Given the description of an element on the screen output the (x, y) to click on. 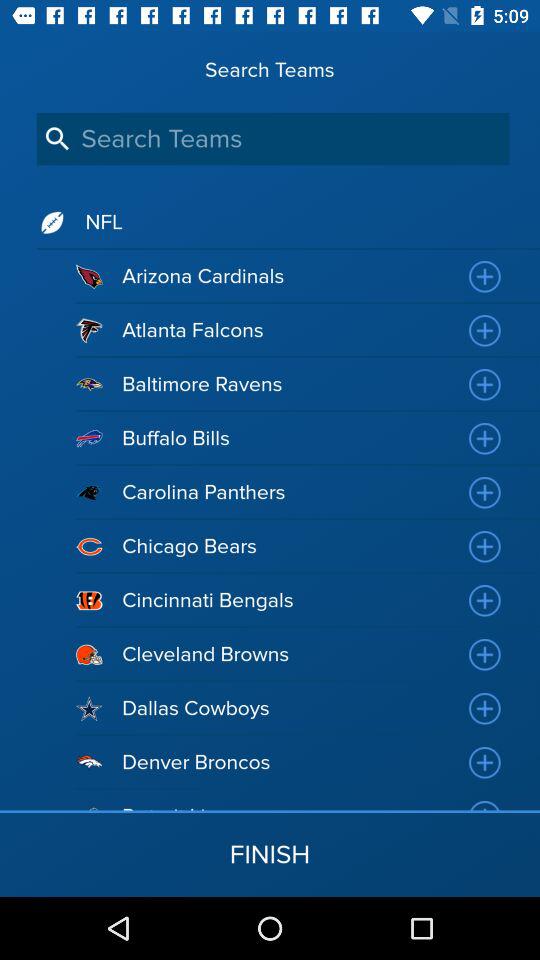
flip until finish icon (270, 854)
